Given the description of an element on the screen output the (x, y) to click on. 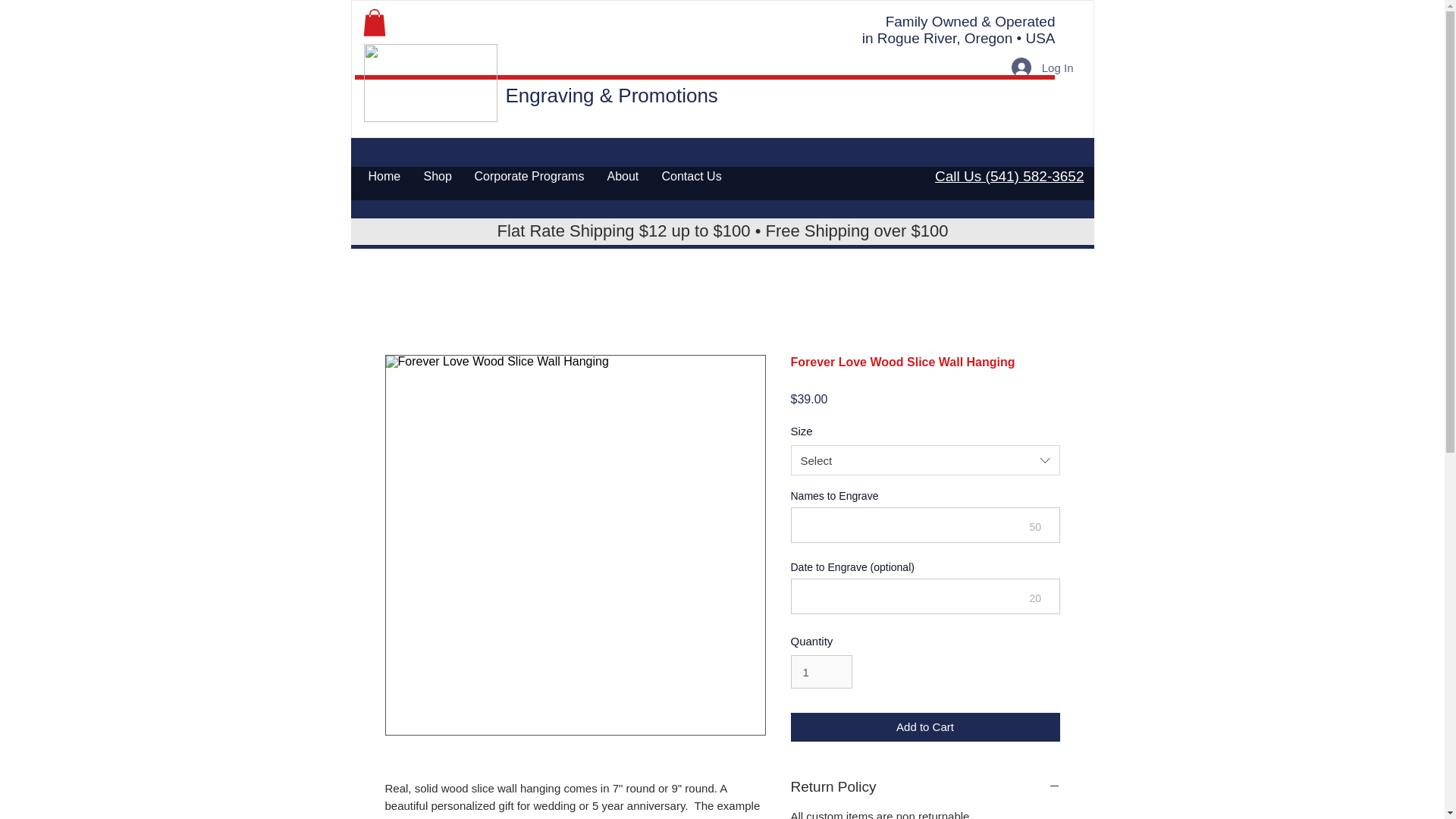
About (622, 176)
Return Policy (924, 786)
Home (384, 176)
Log In (1042, 67)
Select (924, 460)
1 (820, 671)
Corporate Programs (529, 176)
Shop (437, 176)
Contact Us (691, 176)
Add to Cart (924, 727)
